Given the description of an element on the screen output the (x, y) to click on. 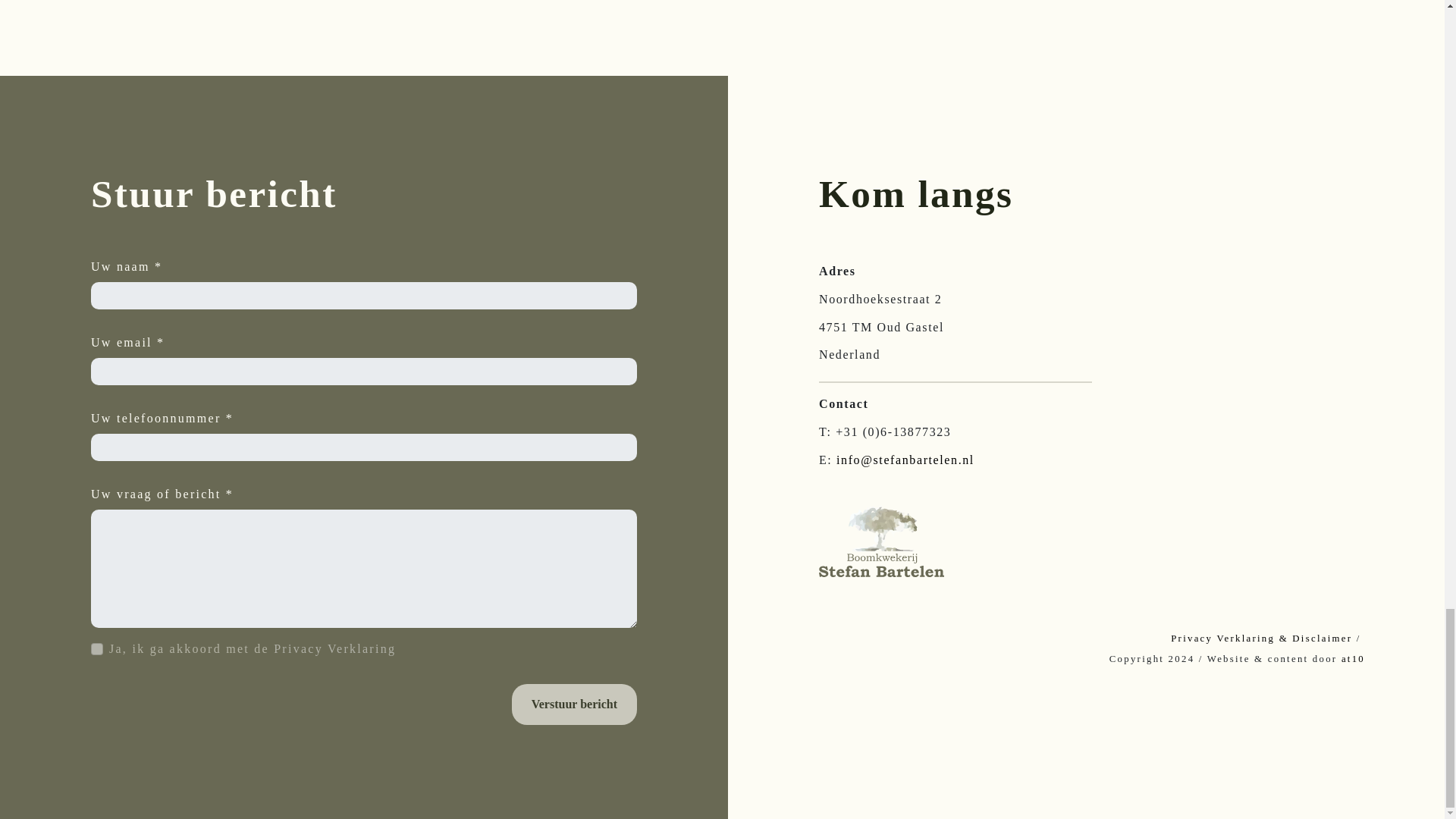
Privacy Verklaring (334, 648)
at10 (1352, 658)
Verstuur bericht (574, 703)
on (96, 648)
